Given the description of an element on the screen output the (x, y) to click on. 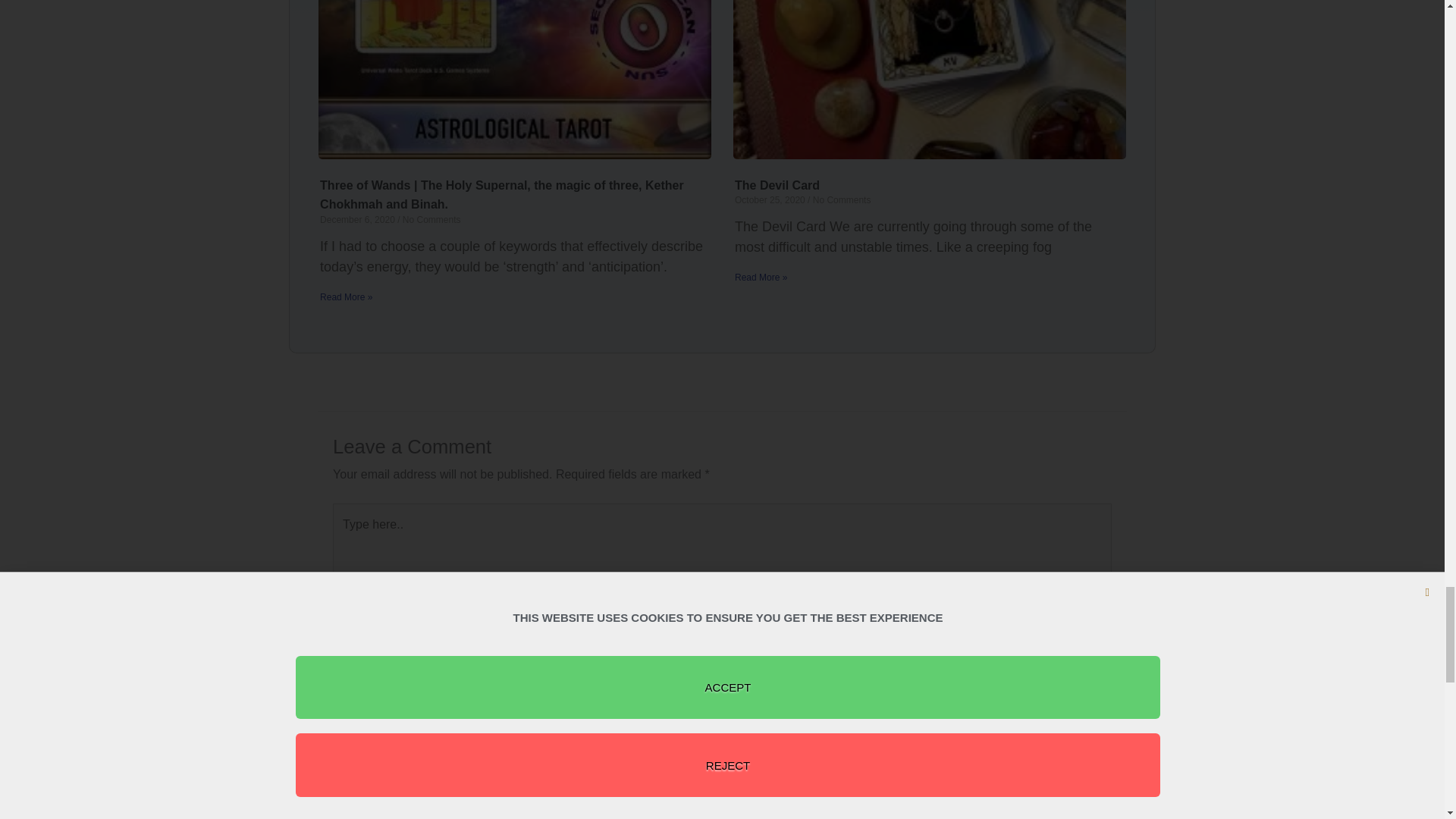
yes (337, 801)
